Given the description of an element on the screen output the (x, y) to click on. 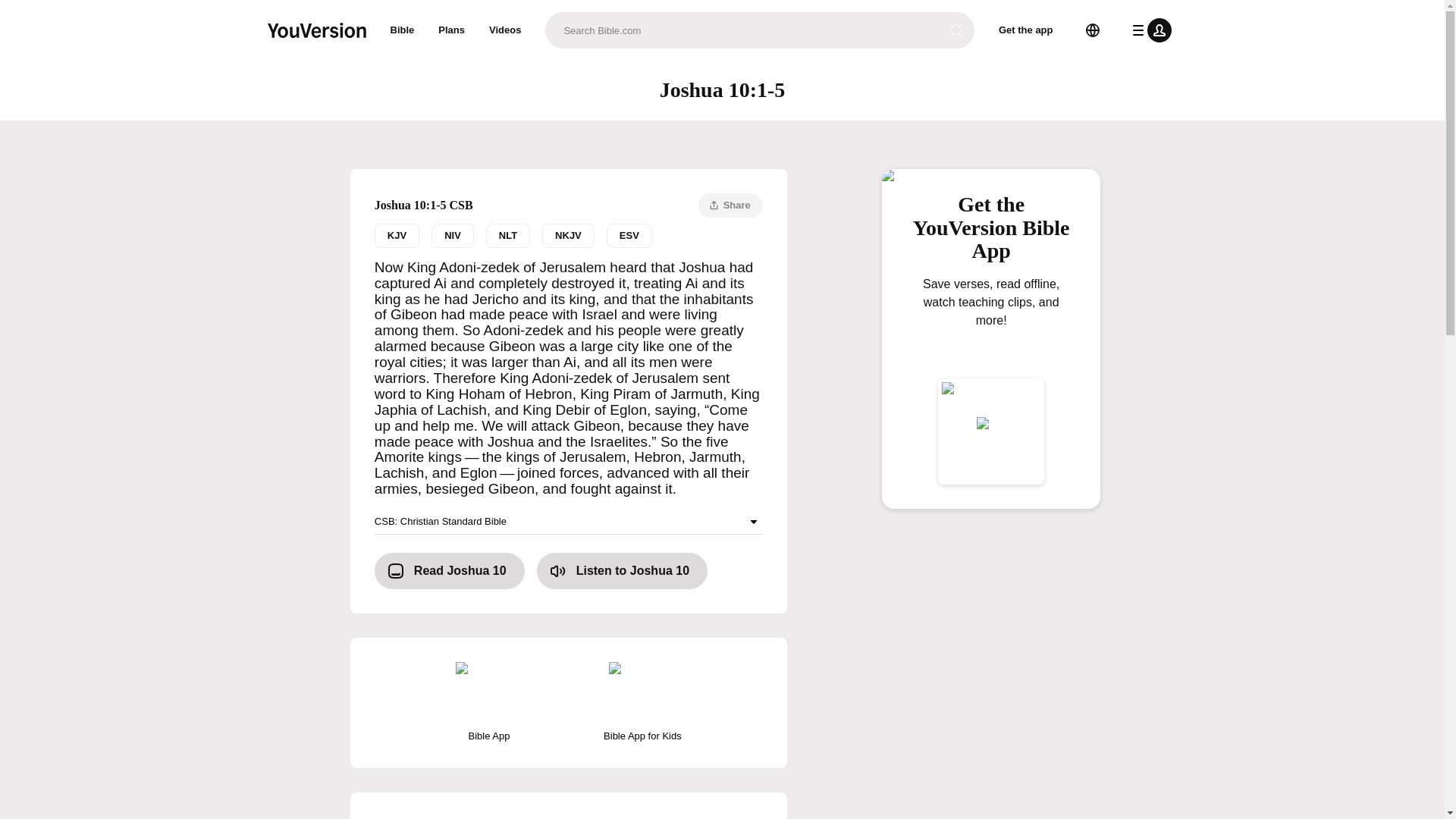
Bible App for Kids (642, 702)
NKJV (567, 235)
CSB: Christian Standard Bible (568, 521)
Plans (451, 29)
NIV (452, 235)
Listen to Joshua 10 (622, 570)
Get the app (1026, 29)
Bible (401, 29)
NLT (507, 235)
Videos (504, 29)
ESV (629, 235)
KJV (396, 235)
Read Joshua 10 (449, 570)
Get the YouVersion Bible App (991, 234)
